Given the description of an element on the screen output the (x, y) to click on. 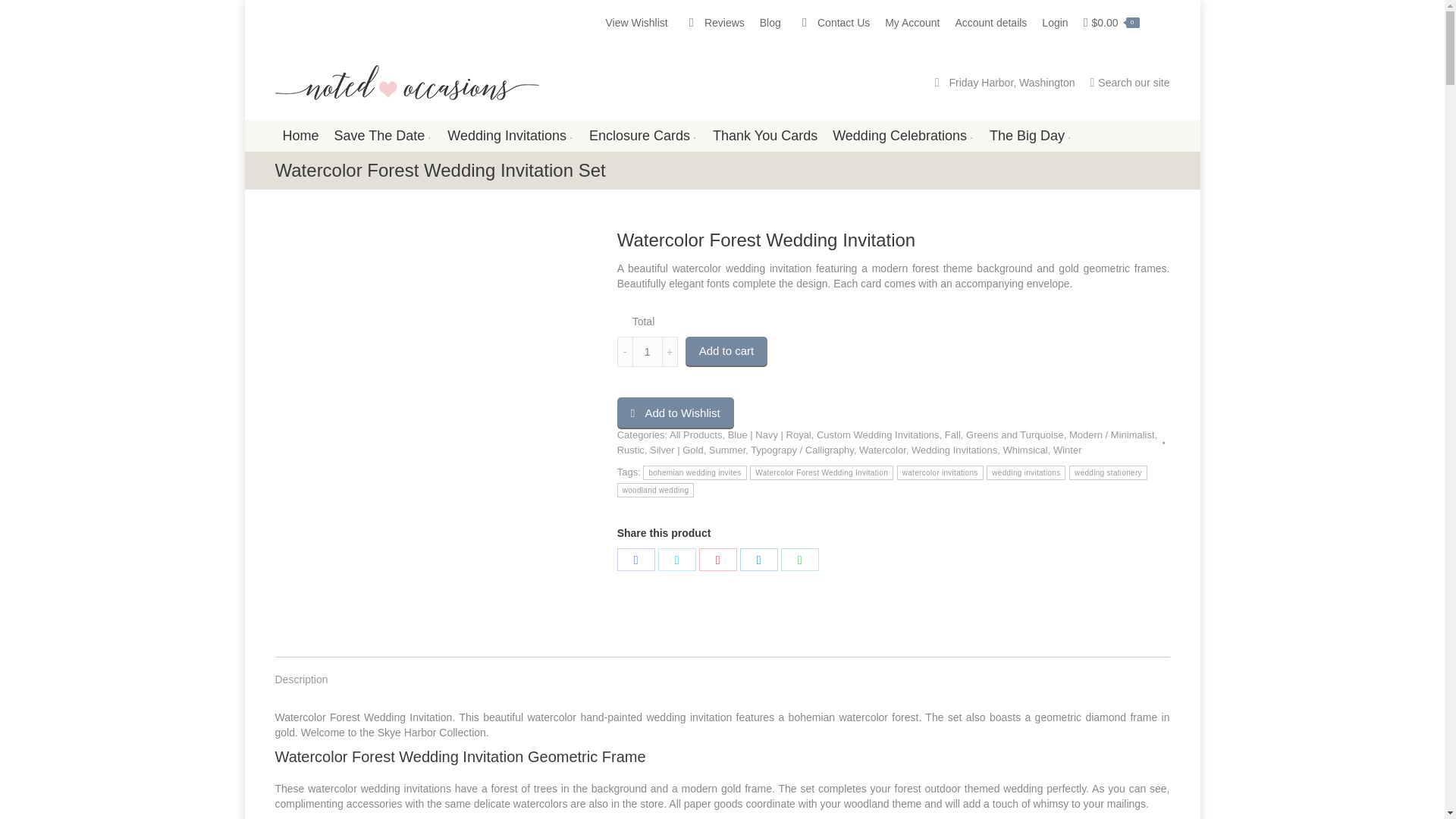
Search our site (1129, 82)
Reviews (713, 22)
Wedding Invitations (509, 135)
Contact Us (833, 22)
LinkedIn (758, 558)
View Wishlist (635, 22)
Enclosure Cards (642, 135)
Save The Date (383, 135)
Home (300, 135)
Facebook (636, 558)
